Given the description of an element on the screen output the (x, y) to click on. 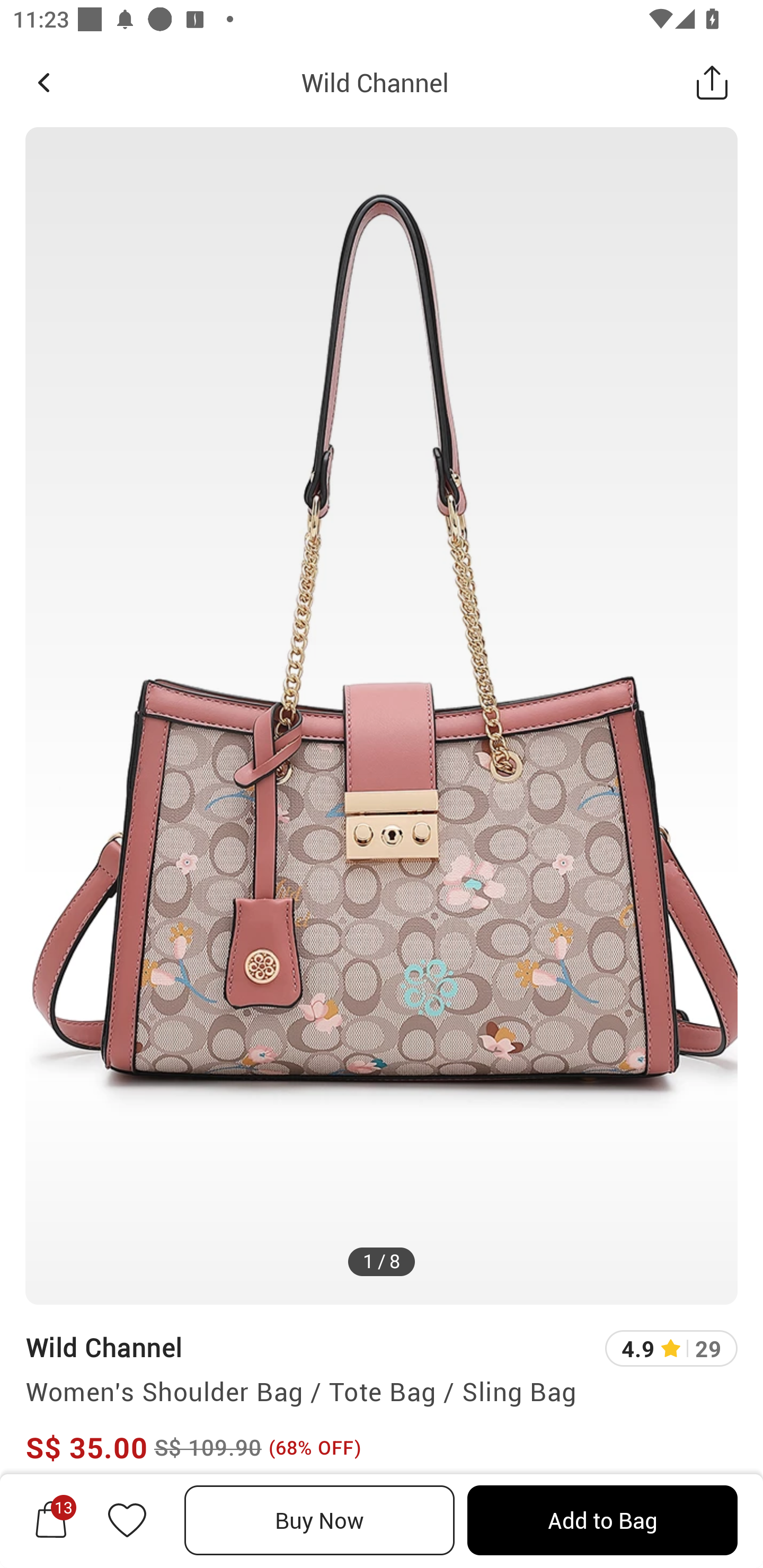
Wild Channel (375, 82)
Share this Product (711, 82)
Wild Channel (103, 1346)
4.9 29 (671, 1348)
Buy Now (319, 1519)
Add to Bag (601, 1519)
13 (50, 1520)
